Given the description of an element on the screen output the (x, y) to click on. 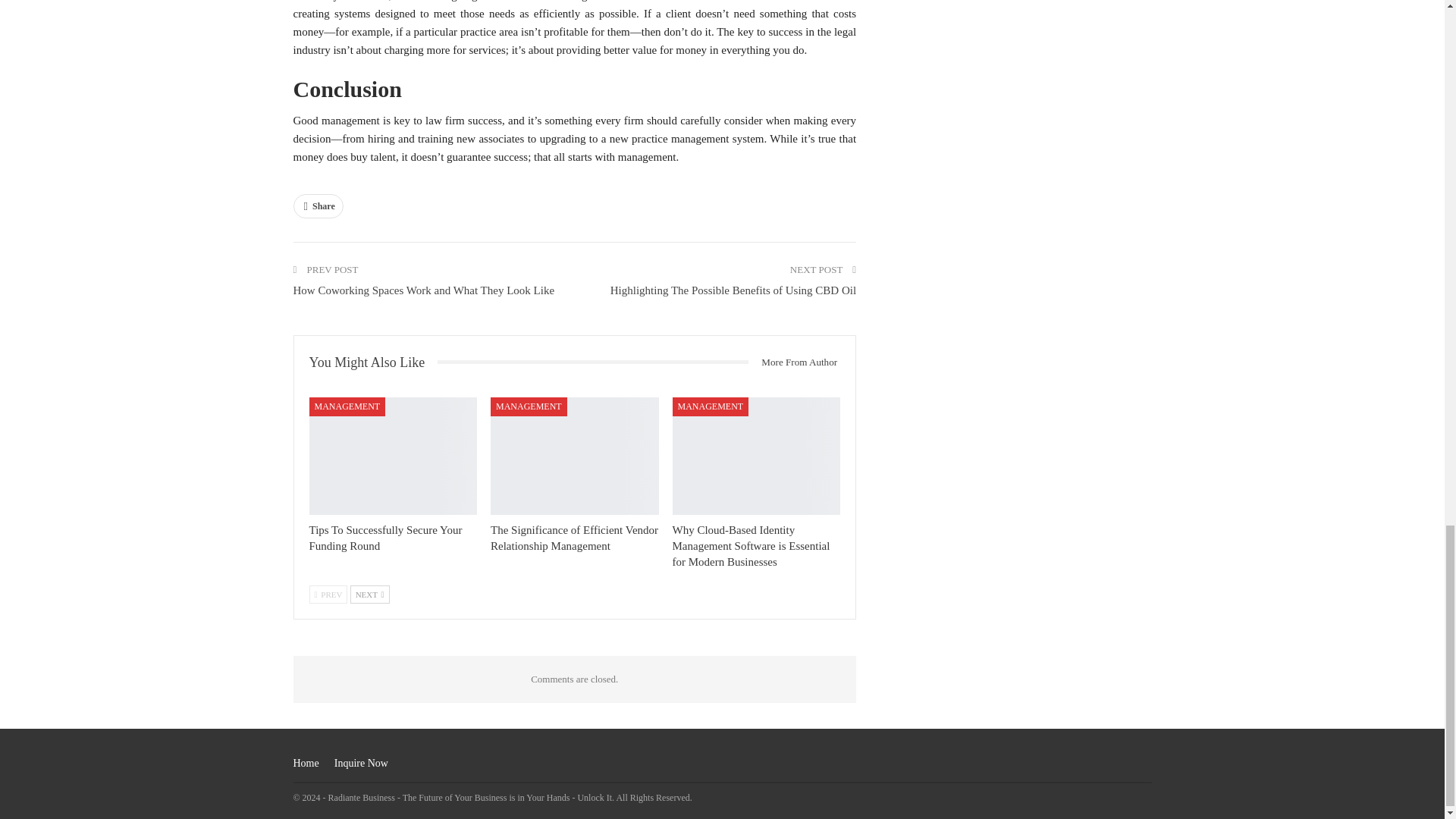
More From Author (794, 362)
Tips To Successfully Secure Your Funding Round (385, 538)
The Significance of Efficient Vendor Relationship Management (574, 538)
MANAGEMENT (710, 406)
You Might Also Like (373, 362)
Highlighting The Possible Benefits of Using CBD Oil (733, 290)
Next (370, 594)
The Significance of Efficient Vendor Relationship Management (574, 538)
How Coworking Spaces Work and What They Look Like (423, 290)
MANAGEMENT (346, 406)
MANAGEMENT (528, 406)
PREV (327, 594)
